Given the description of an element on the screen output the (x, y) to click on. 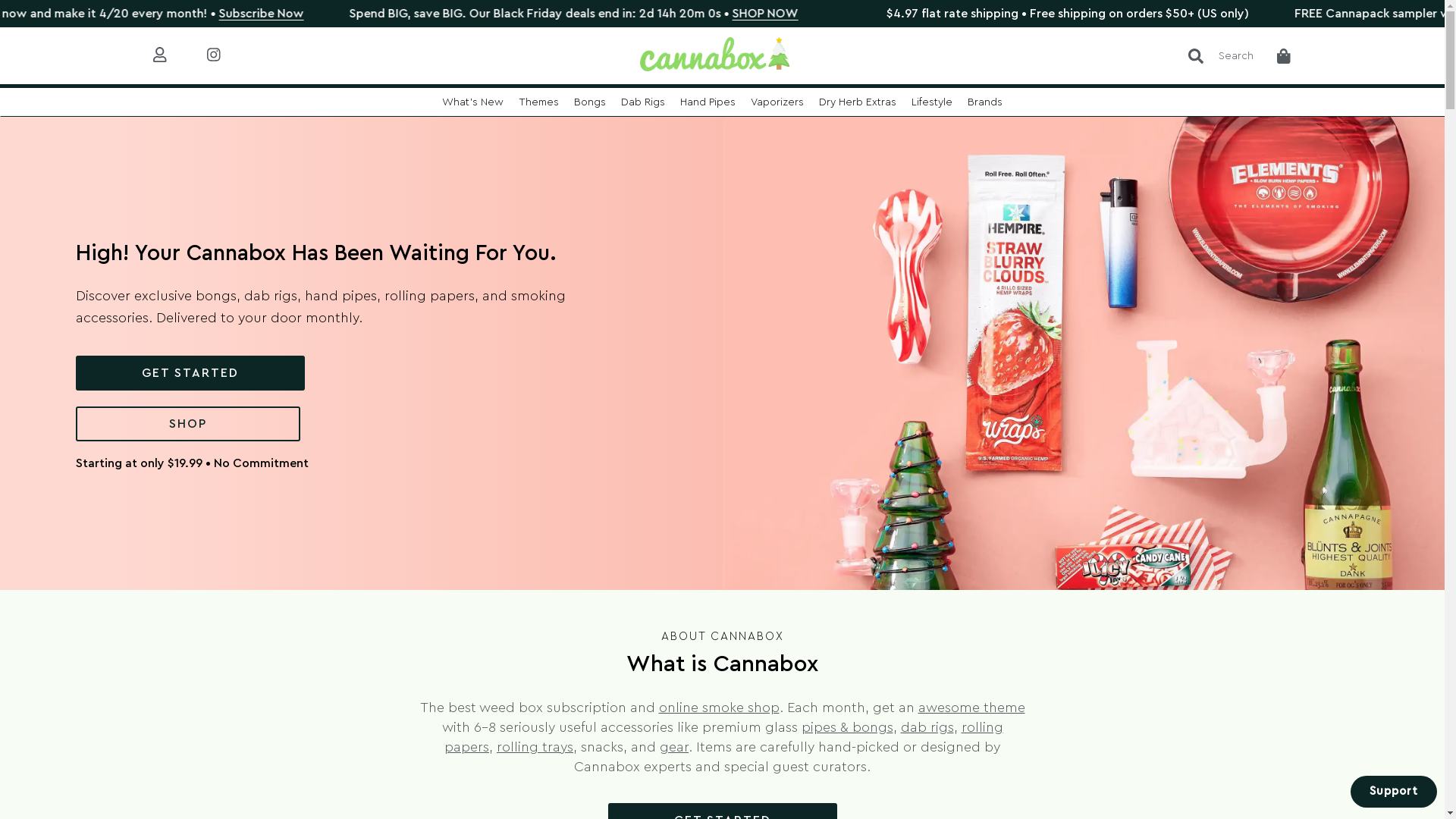
hand pipes Element type: text (340, 295)
Bongs Element type: text (589, 102)
Themes Element type: text (538, 102)
dab rigs Element type: text (270, 295)
rolling trays Element type: text (534, 746)
SHOP Element type: text (187, 423)
SHOP NOW Element type: text (1115, 13)
rolling papers Element type: text (429, 295)
Brands Element type: text (985, 102)
Dry Herb Extras Element type: text (857, 102)
smoking accessories Element type: text (320, 306)
rolling papers Element type: text (723, 736)
Vaporizers Element type: text (777, 102)
awesome theme Element type: text (970, 707)
gear Element type: text (673, 746)
Support Element type: text (1393, 791)
What's New Element type: text (472, 102)
GET STARTED Element type: text (189, 372)
dab rigs Element type: text (926, 727)
Subscribe Now Element type: text (612, 13)
Shop Now Element type: text (255, 13)
Lifestyle Element type: text (931, 102)
pipes & bongs Element type: text (846, 727)
Dab Rigs Element type: text (642, 102)
bongs Element type: text (215, 295)
Hand Pipes Element type: text (707, 102)
online smoke shop Element type: text (718, 707)
